Given the description of an element on the screen output the (x, y) to click on. 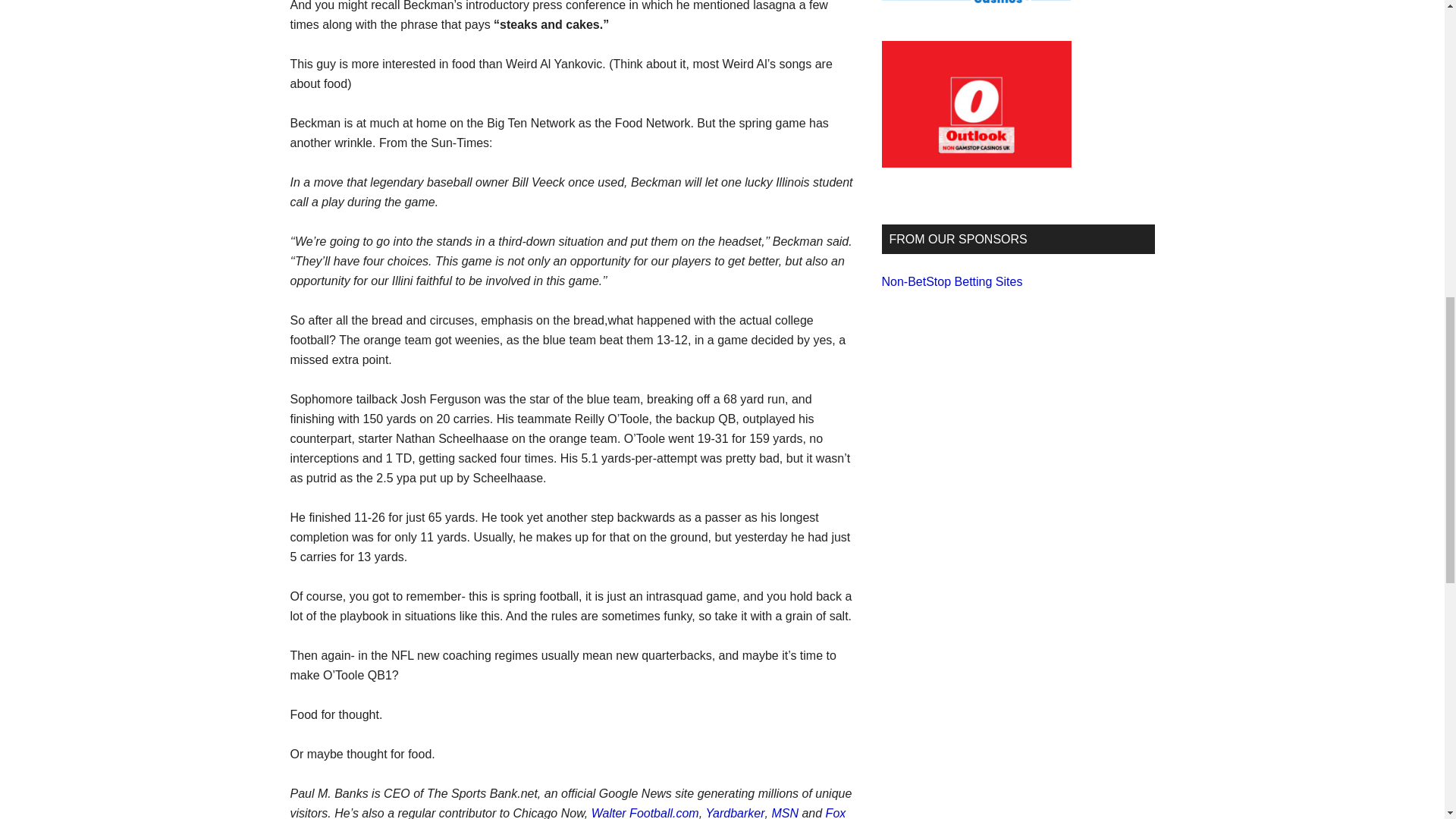
Fox Sports (567, 812)
Walter Football.com (644, 812)
MSN (784, 812)
Yardbarker (735, 812)
